Given the description of an element on the screen output the (x, y) to click on. 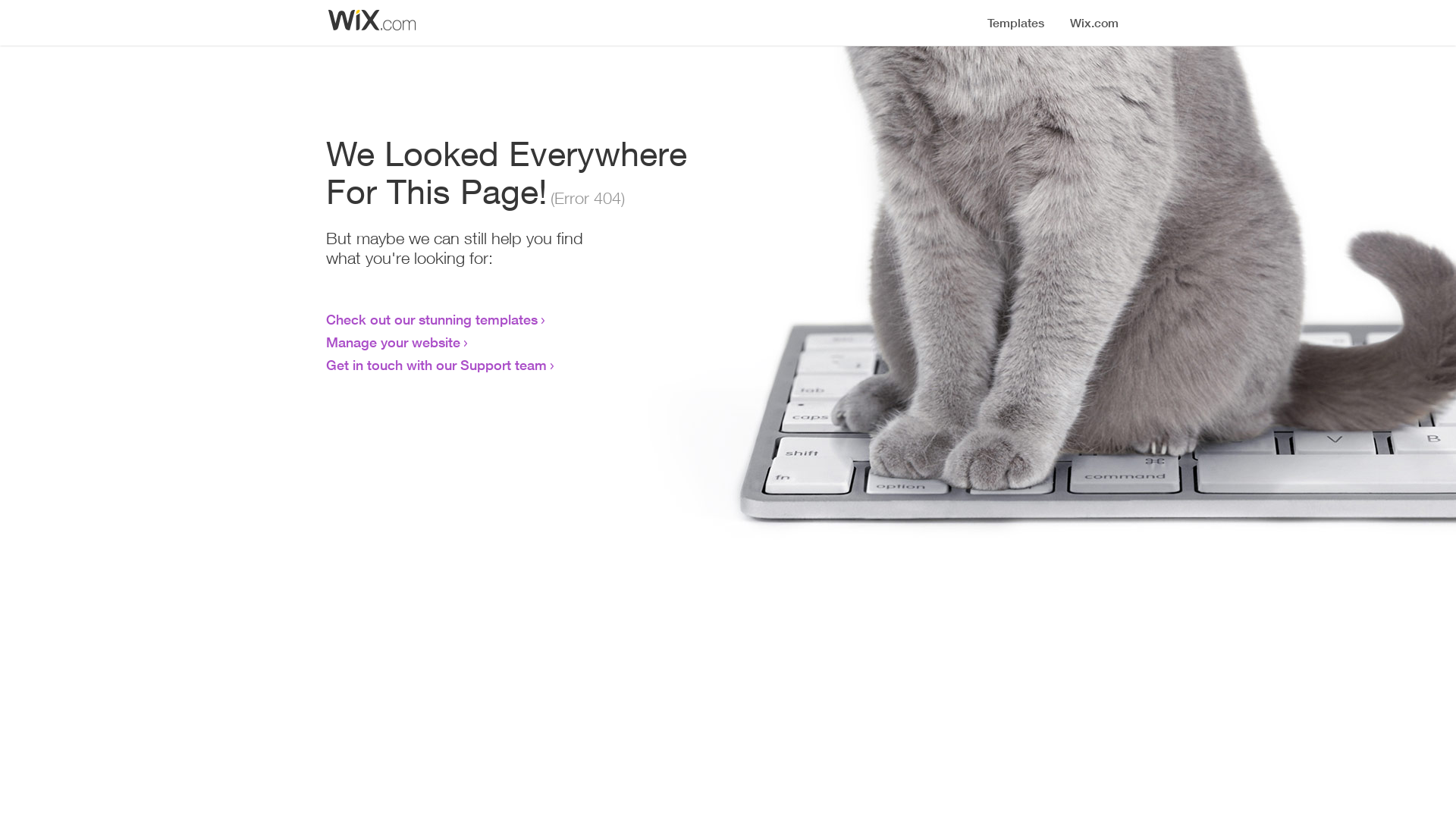
Manage your website Element type: text (393, 341)
Check out our stunning templates Element type: text (431, 318)
Get in touch with our Support team Element type: text (436, 364)
